Given the description of an element on the screen output the (x, y) to click on. 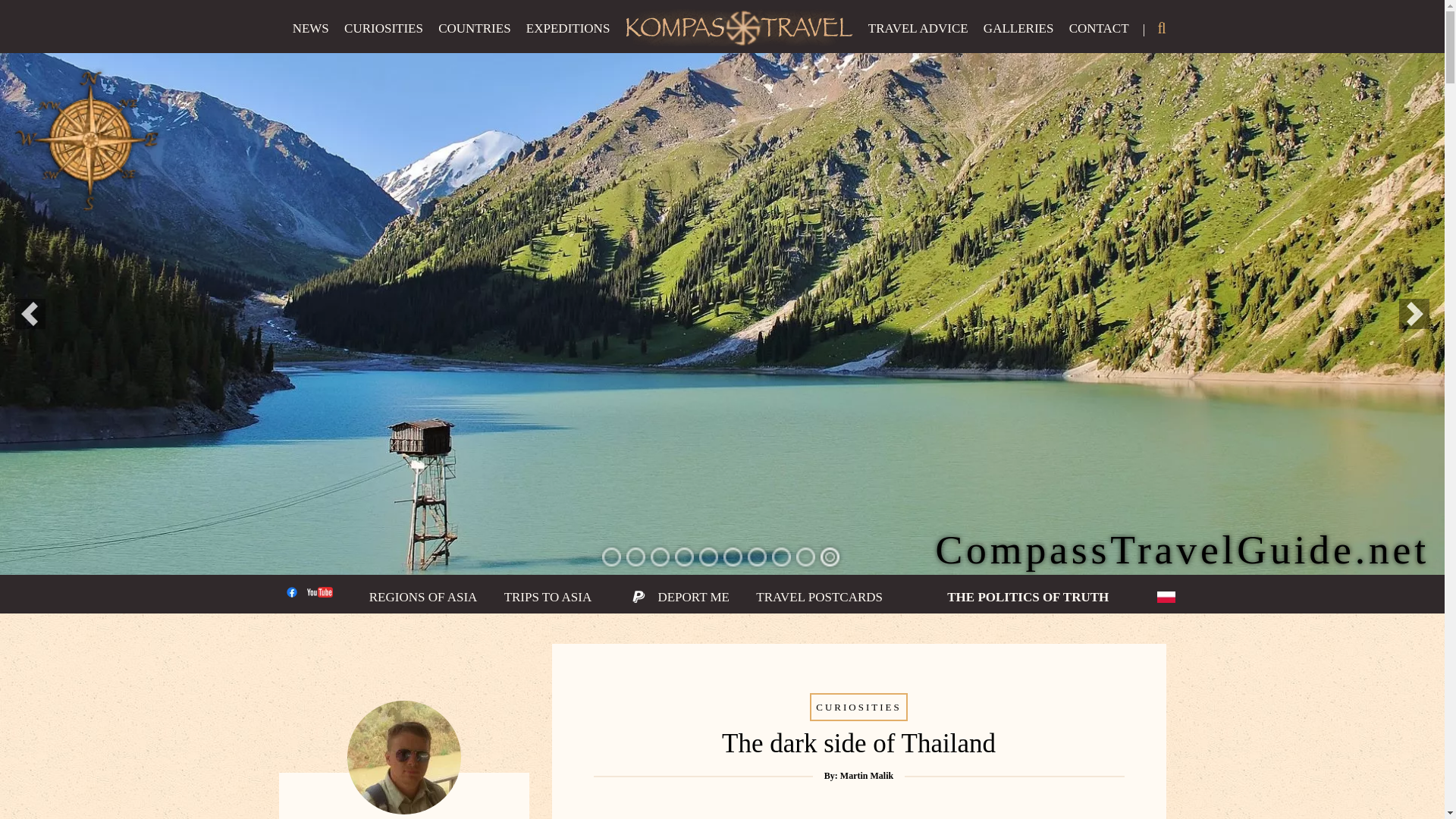
REGIONS OF ASIA (429, 605)
DEPORT ME (685, 605)
CURIOSITIES (389, 37)
GALLERIES (1025, 37)
THE POLITICS OF TRUTH (1003, 605)
CONTACT (1098, 37)
COUNTRIES (480, 37)
EXPEDITIONS (574, 37)
TRIPS TO ASIA (554, 605)
NEWS (317, 37)
Polish (1165, 596)
TRAVEL POSTCARDS (825, 605)
TRAVEL ADVICE (924, 37)
